Given the description of an element on the screen output the (x, y) to click on. 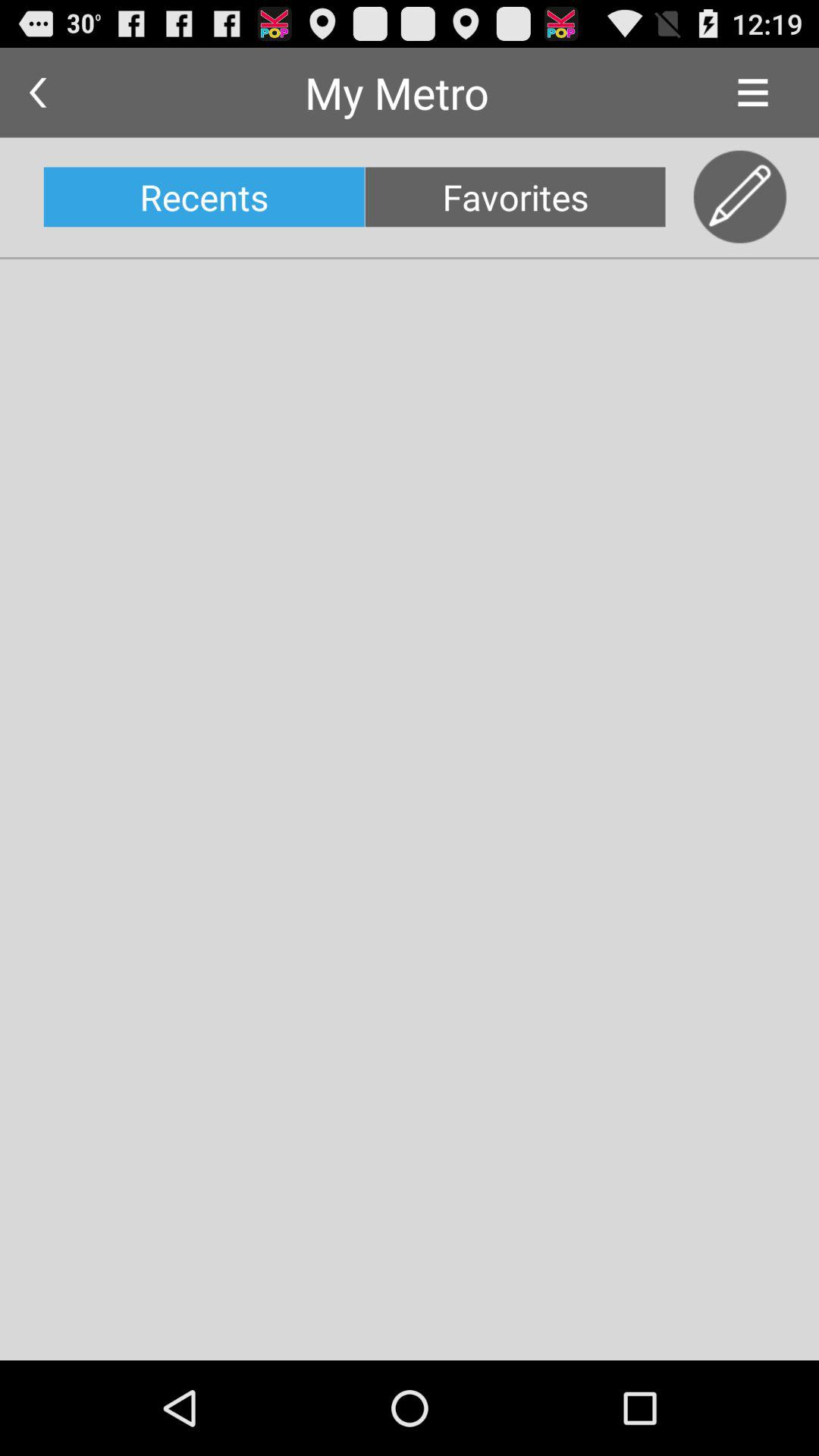
flip to recents item (203, 196)
